Given the description of an element on the screen output the (x, y) to click on. 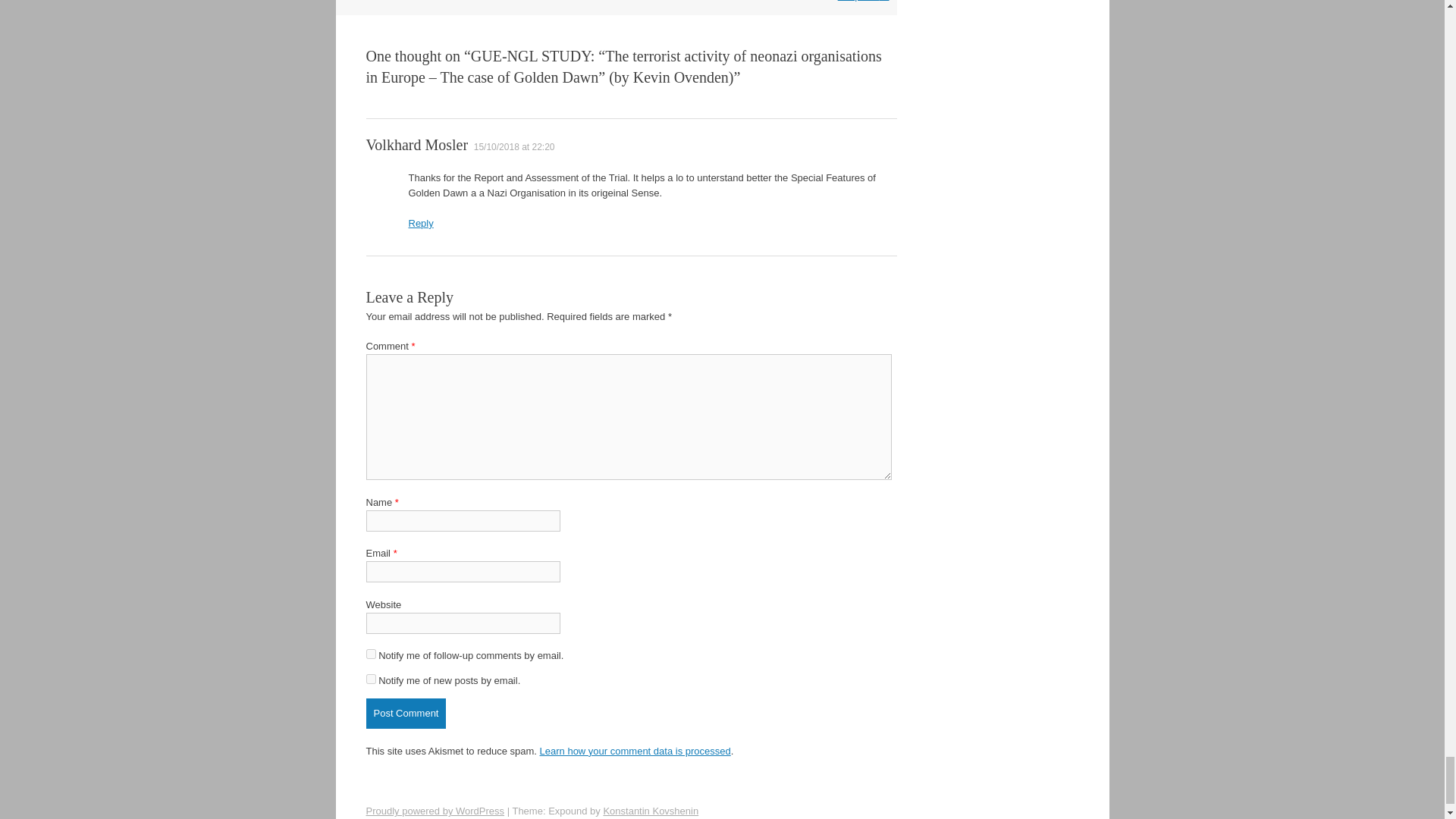
subscribe (370, 678)
Post Comment (405, 713)
subscribe (370, 654)
